Given the description of an element on the screen output the (x, y) to click on. 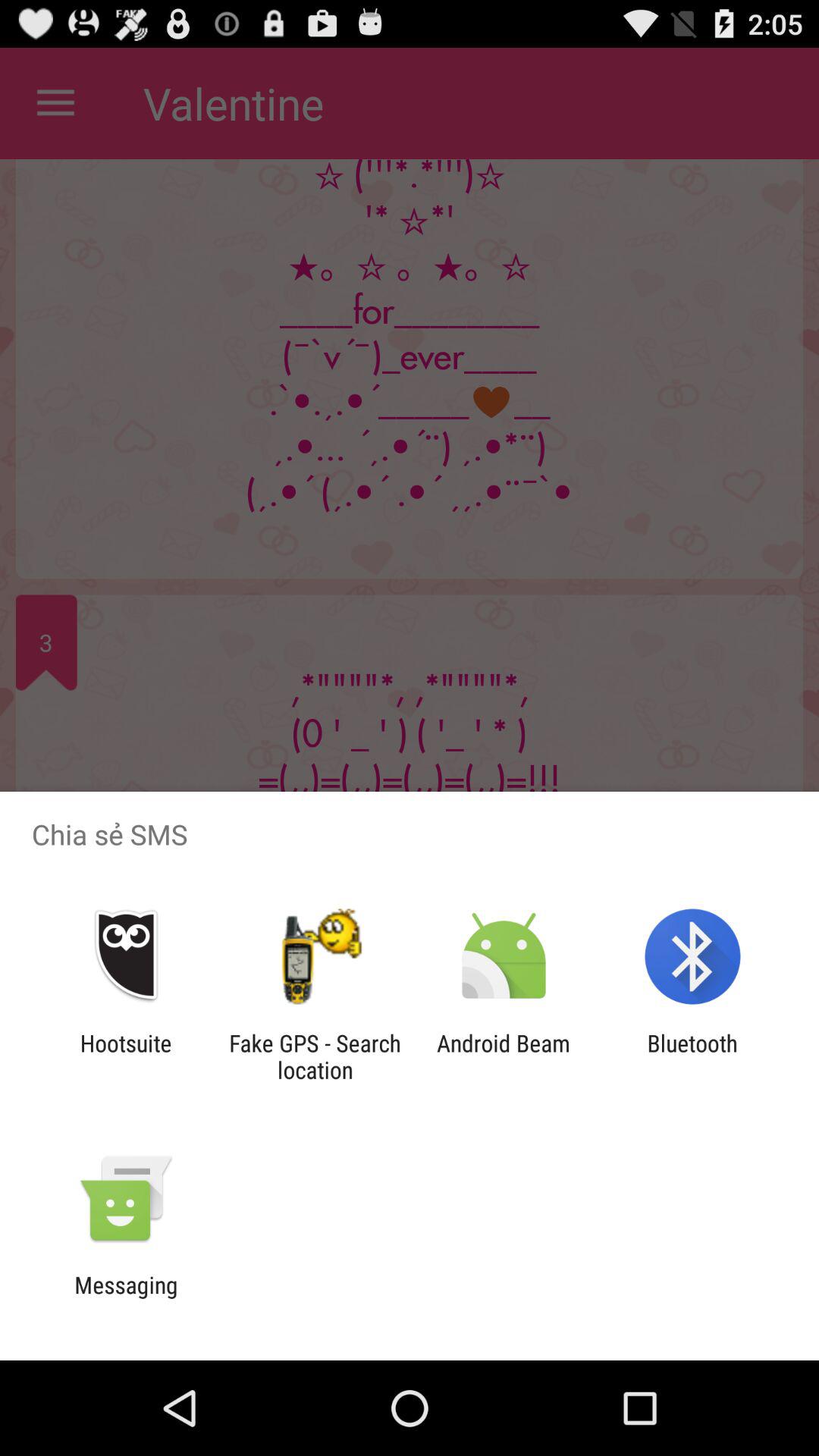
turn off the hootsuite icon (125, 1056)
